Given the description of an element on the screen output the (x, y) to click on. 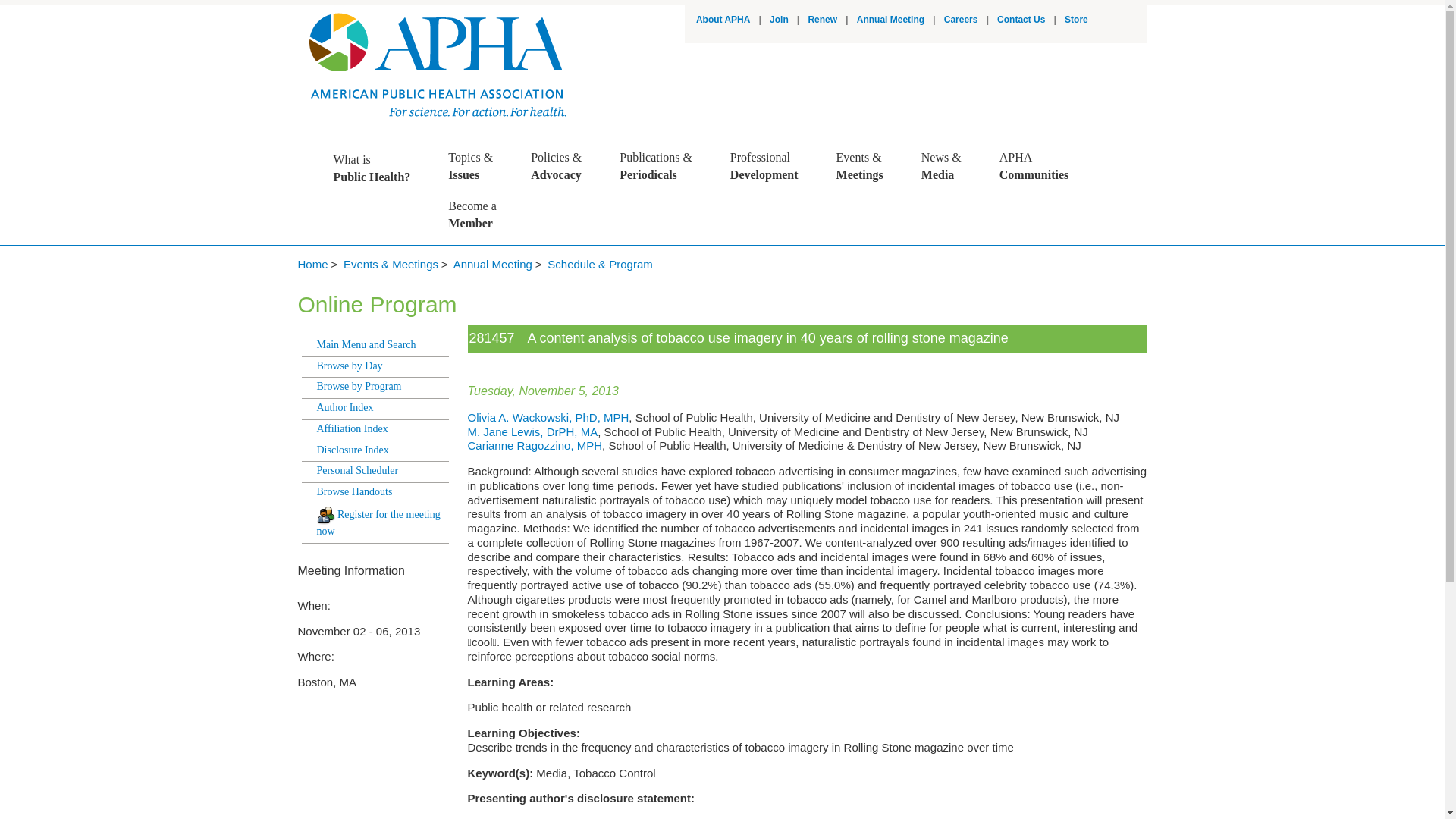
Renew (378, 169)
Careers (822, 19)
Store (772, 166)
Contact Us (960, 19)
Annual Meeting (1075, 19)
Join (1021, 19)
About APHA (890, 19)
